Given the description of an element on the screen output the (x, y) to click on. 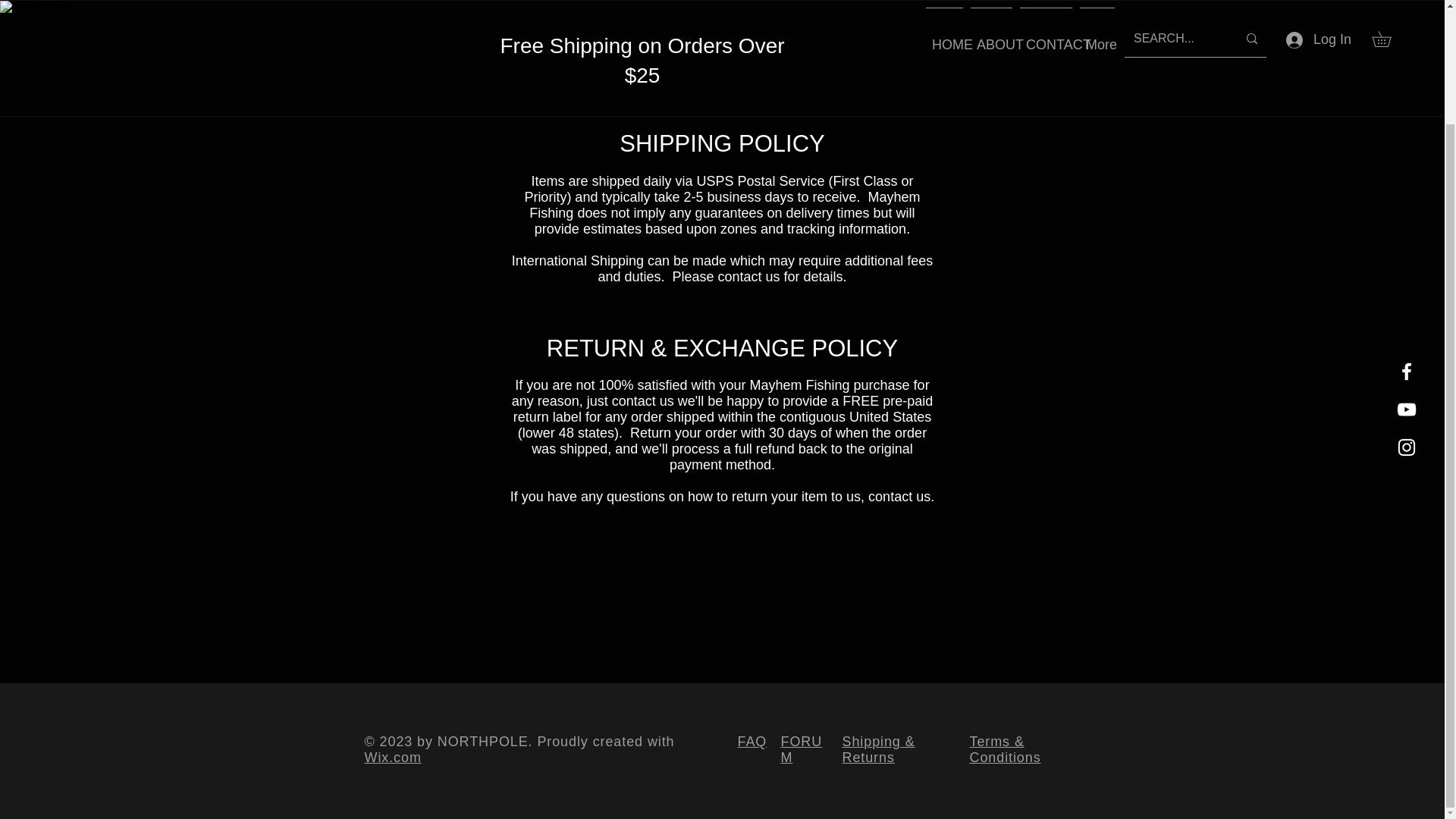
FORUM (801, 748)
FAQ (751, 741)
Wix.com (392, 757)
